Given the description of an element on the screen output the (x, y) to click on. 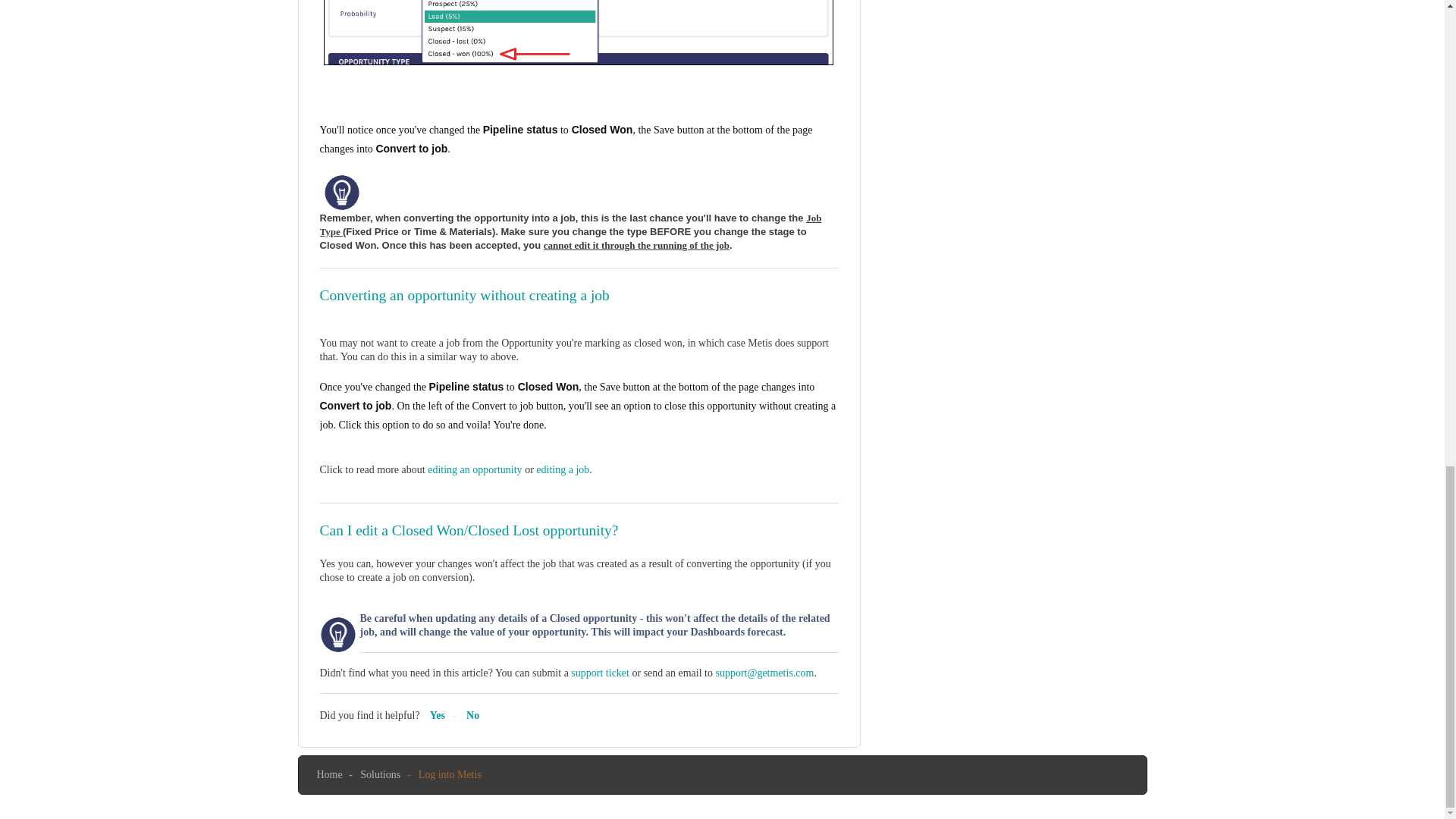
Solutions (379, 774)
editing an opportunity (474, 469)
Converting an opportunity without creating a job (465, 295)
editing a job (562, 469)
Home (329, 774)
support ticket (599, 672)
